Given the description of an element on the screen output the (x, y) to click on. 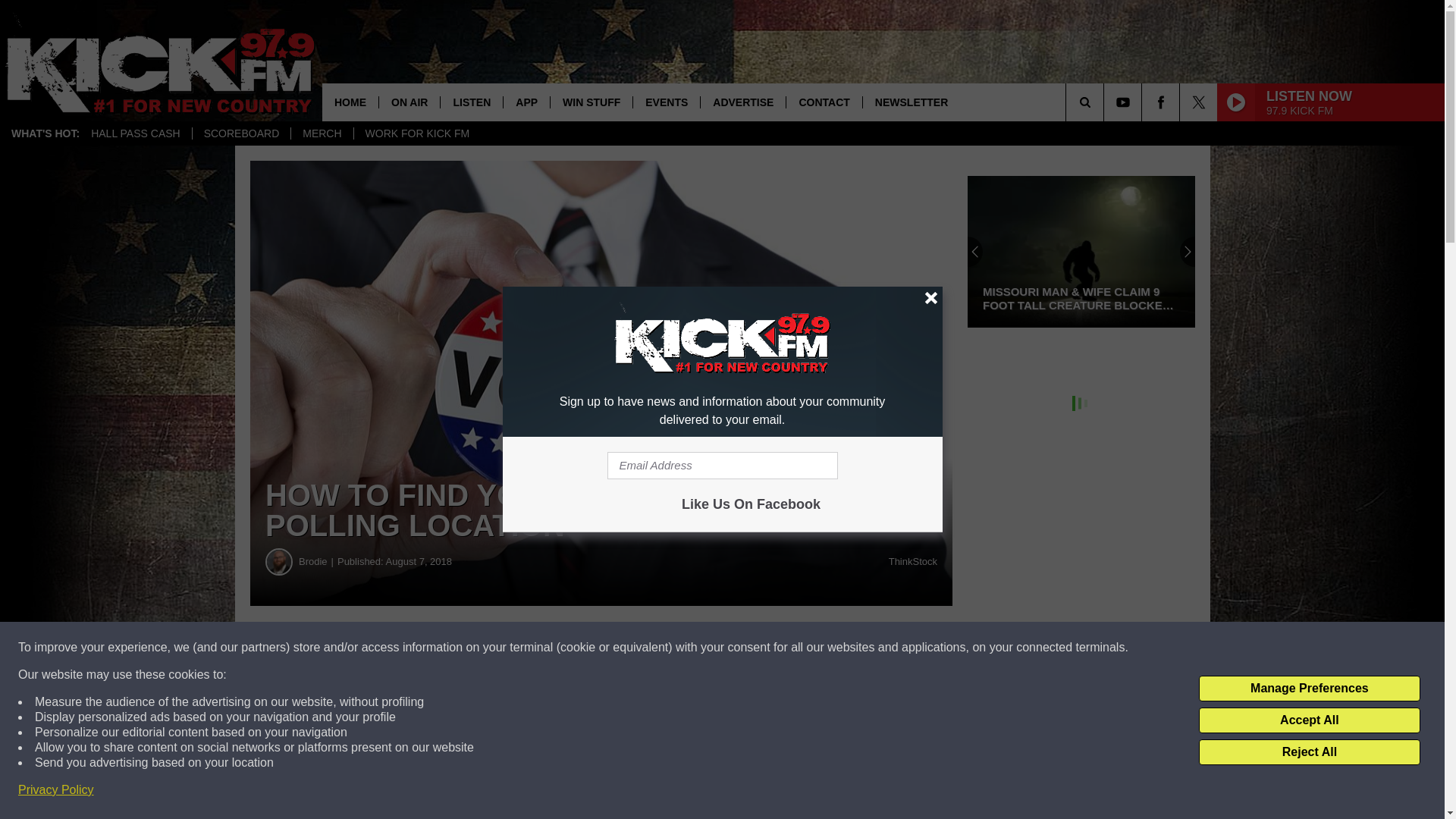
SCOREBOARD (241, 133)
SEARCH (1106, 102)
Reject All (1309, 751)
WIN STUFF (590, 102)
EVENTS (665, 102)
Accept All (1309, 720)
SEARCH (1106, 102)
ADVERTISE (743, 102)
WORK FOR KICK FM (417, 133)
MERCH (320, 133)
HALL PASS CASH (136, 133)
Share on Twitter (741, 647)
Email Address (722, 465)
Privacy Policy (55, 789)
Share on Facebook (460, 647)
